Given the description of an element on the screen output the (x, y) to click on. 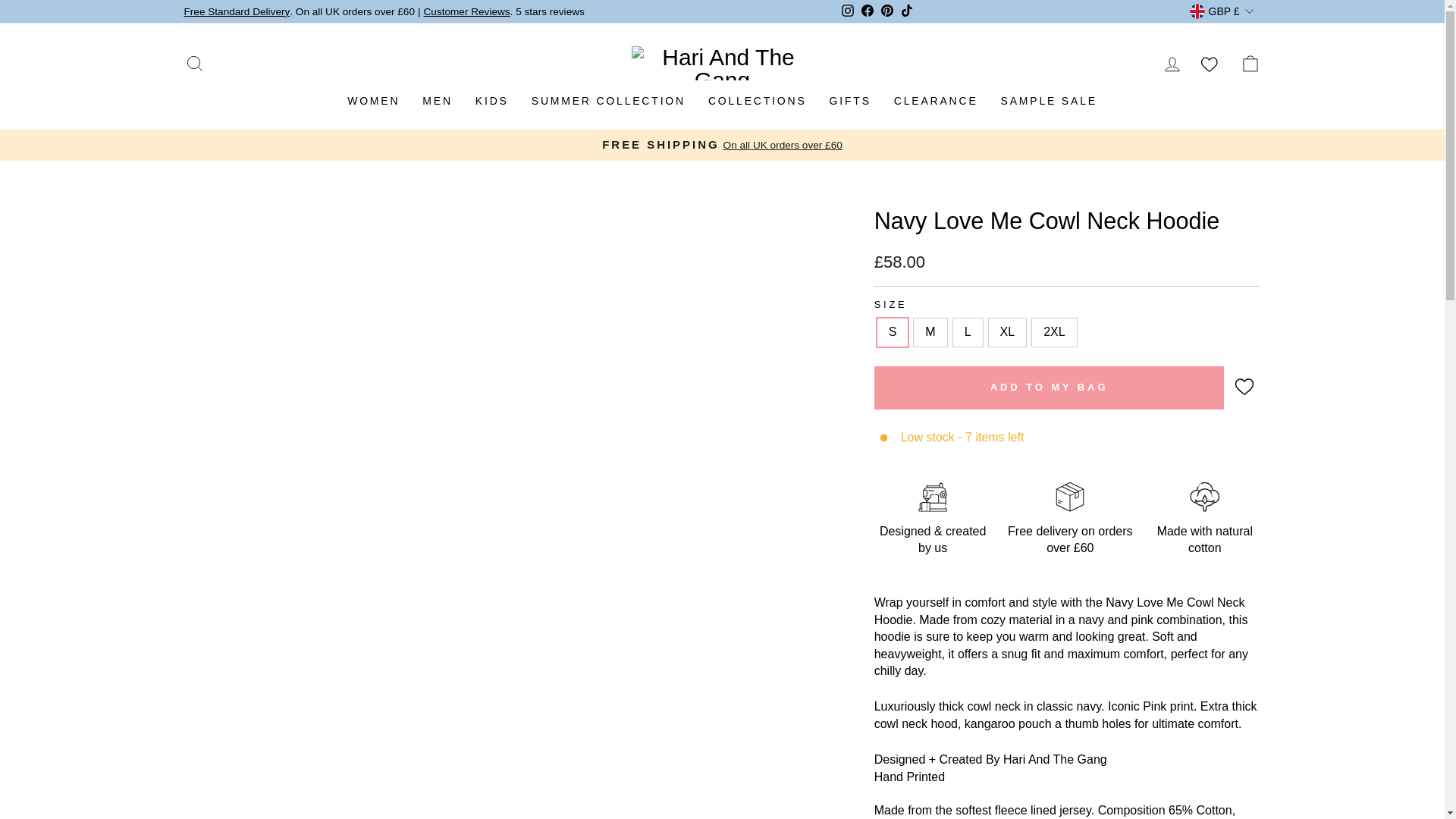
Hari And The Gang on Instagram (847, 11)
Hari And The Gang on Pinterest (886, 11)
Hari And The Gang on Facebook (867, 11)
Hari And The Gang on TikTok (906, 11)
